Given the description of an element on the screen output the (x, y) to click on. 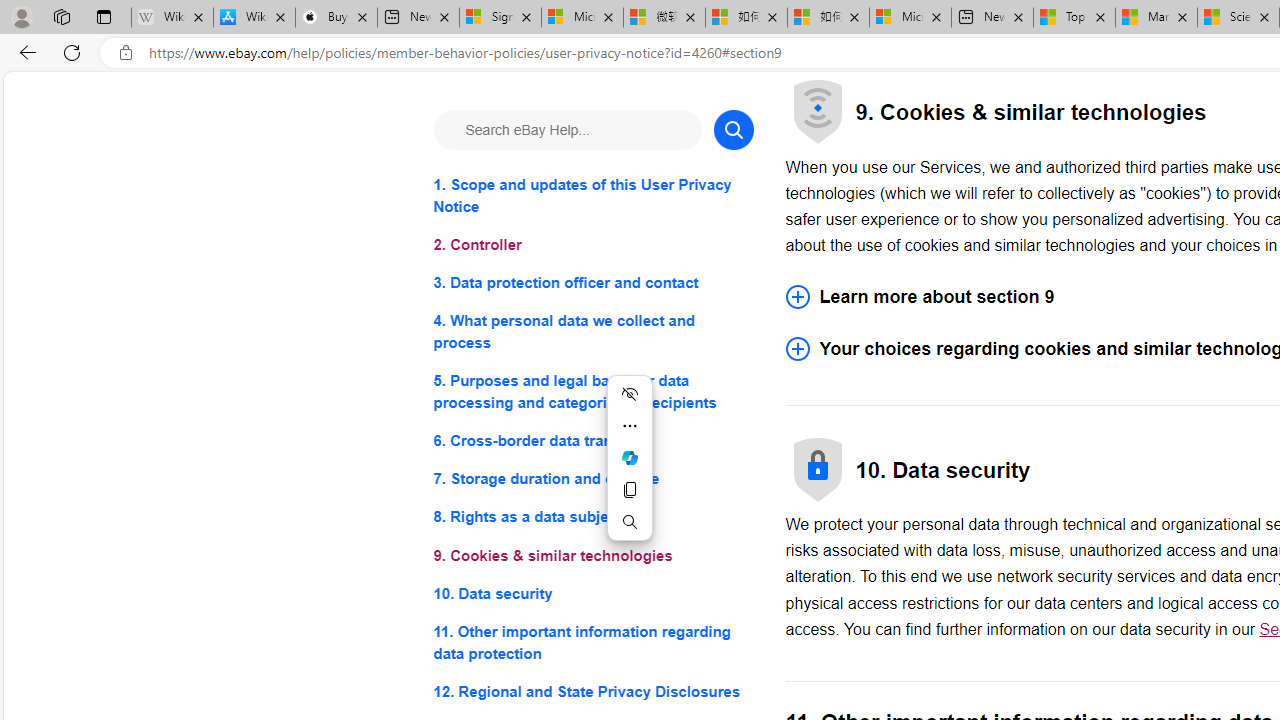
2. Controller (592, 245)
6. Cross-border data transfers (592, 440)
7. Storage duration and erasure (592, 479)
Mini menu on text selection (629, 457)
Ask Copilot (629, 457)
11. Other important information regarding data protection (592, 642)
12. Regional and State Privacy Disclosures (592, 690)
Top Stories - MSN (1074, 17)
8. Rights as a data subject (592, 517)
6. Cross-border data transfers (592, 440)
9. Cookies & similar technologies (592, 555)
